Given the description of an element on the screen output the (x, y) to click on. 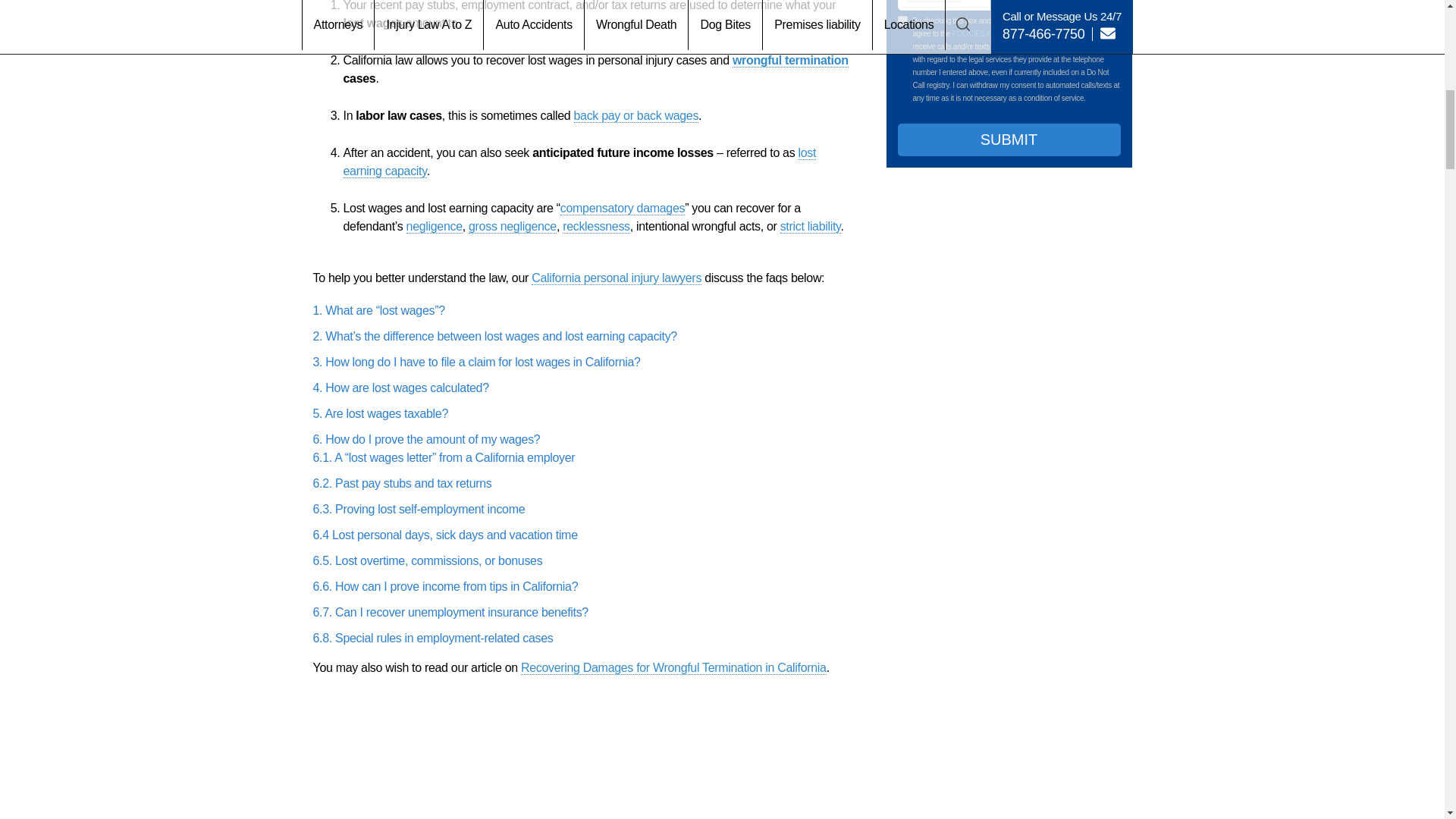
negligence (434, 226)
strict liability (810, 226)
back pay or back wages (635, 115)
California personal injury lawyers (616, 278)
6.2. Past pay stubs and tax returns (402, 482)
Recovering Damages for Wrongful Termination in California (674, 667)
6.3. Proving lost self-employment income (418, 508)
6.8. Special rules in employment-related cases (433, 637)
6.6. How can I prove income from tips in California? (445, 585)
